Given the description of an element on the screen output the (x, y) to click on. 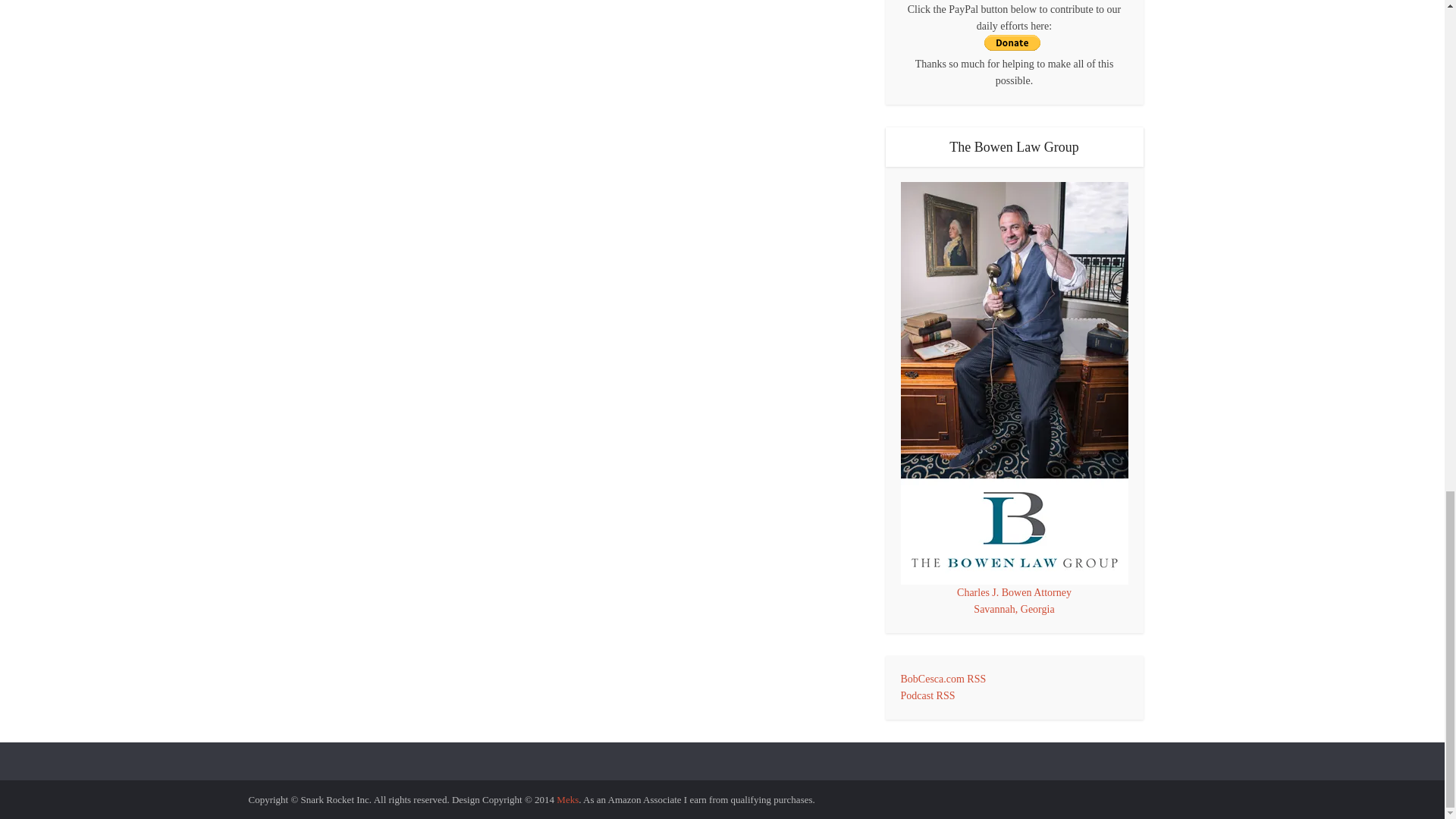
PayPal - The safer, easier way to pay online! (1012, 42)
